Given the description of an element on the screen output the (x, y) to click on. 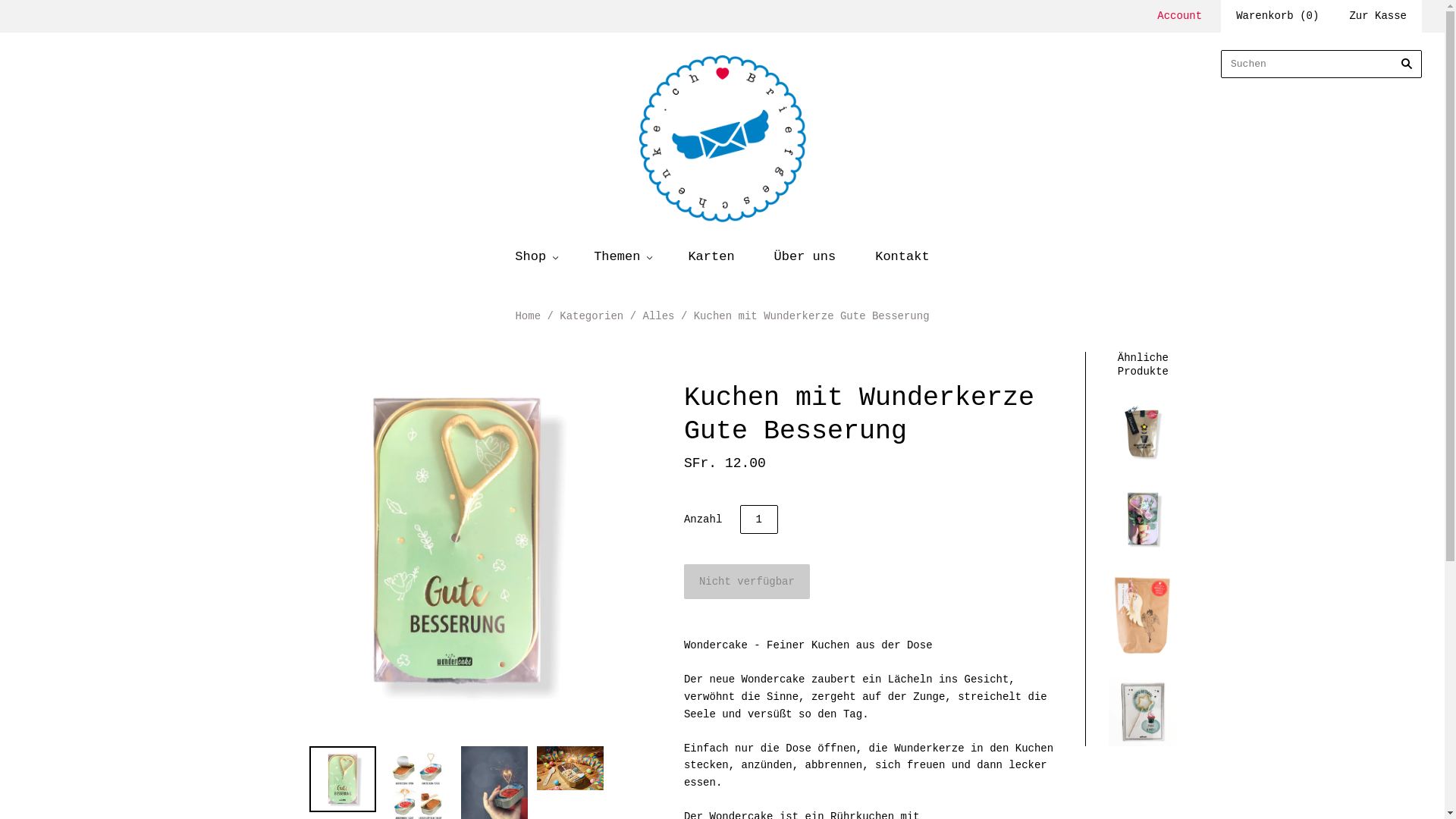
Zur Kasse Element type: text (1377, 16)
Warenkorb (0) Element type: text (1277, 16)
Account Element type: text (1179, 15)
Themen Element type: text (621, 256)
Karten Element type: text (710, 256)
Kontakt Element type: text (901, 256)
Shop Element type: text (534, 256)
Kategorien Element type: text (591, 316)
Alles Element type: text (658, 316)
Home Element type: text (527, 316)
Wunderkerze Happy Birthday Element type: hover (1142, 711)
